Given the description of an element on the screen output the (x, y) to click on. 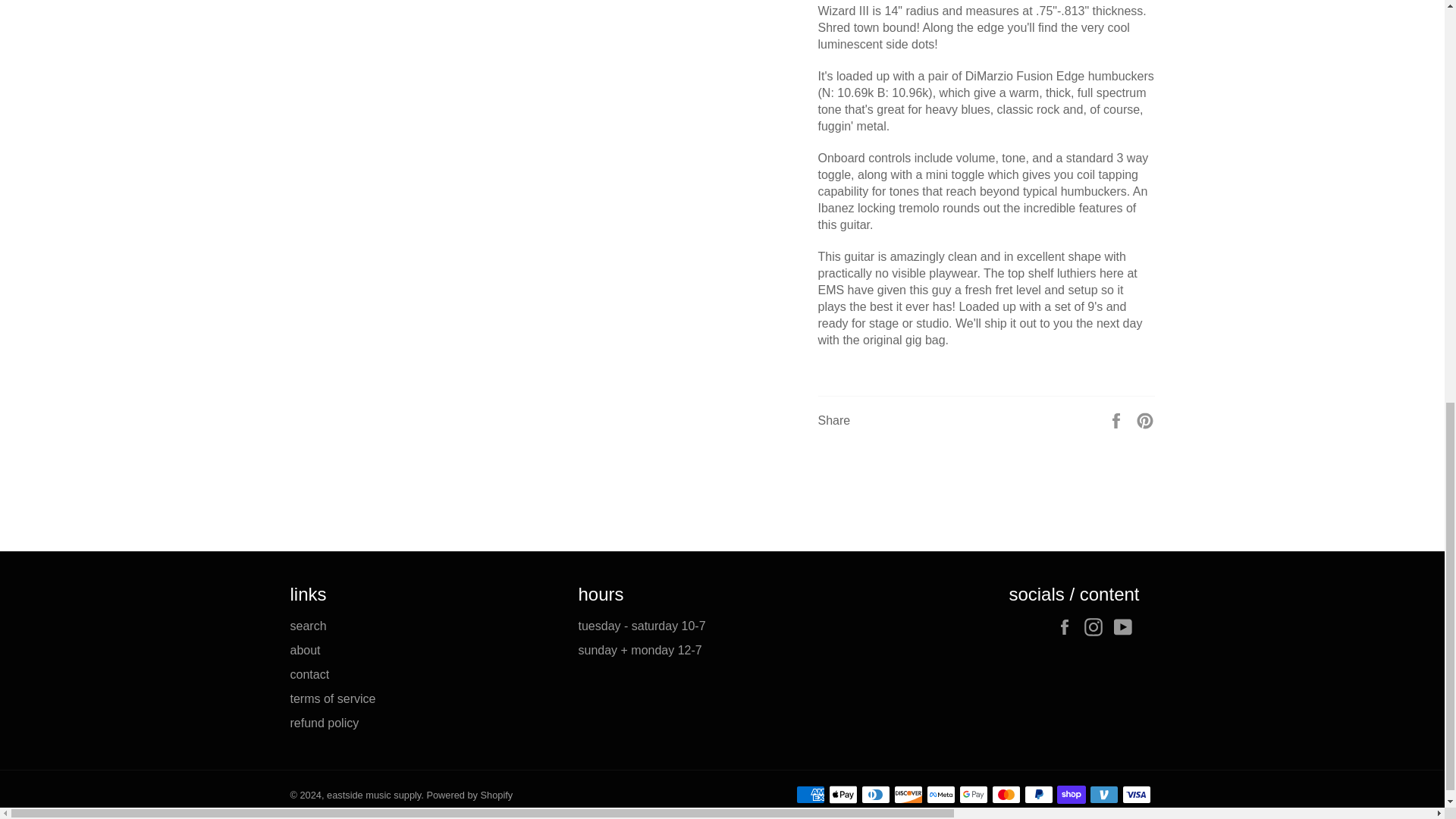
Share on Facebook (1117, 419)
Pin on Pinterest (1144, 419)
eastside music supply on Instagram (1096, 627)
eastside music supply on YouTube (1125, 627)
eastside music supply on Facebook (1068, 627)
